Given the description of an element on the screen output the (x, y) to click on. 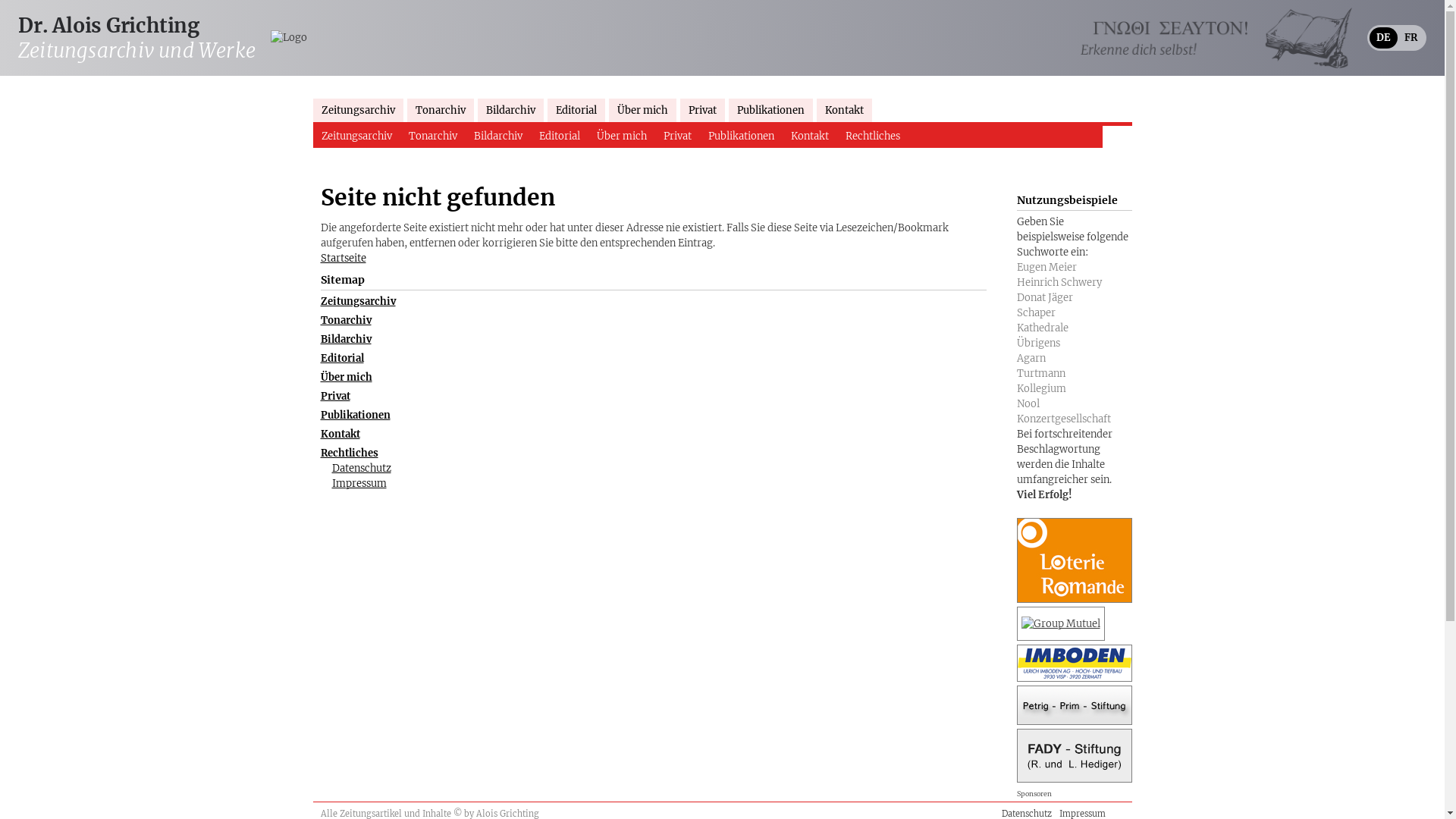
Rechtliches Element type: text (348, 452)
Dr. Alois Grichting
Zeitungsarchiv und Werke Element type: text (136, 37)
Kontakt Element type: text (339, 433)
Zeitungsarchiv Element type: text (355, 136)
Bildarchiv Element type: text (497, 136)
Editorial Element type: text (576, 110)
Bildarchiv Element type: text (510, 110)
Zeitungsarchiv Element type: text (357, 300)
Editorial Element type: text (559, 136)
DE Element type: text (1383, 37)
Tonarchiv Element type: text (439, 110)
Kontakt Element type: text (843, 110)
Publikationen Element type: text (354, 414)
Privat Element type: text (334, 395)
Privat Element type: text (701, 110)
Tonarchiv Element type: text (345, 319)
Publikationen Element type: text (740, 136)
Publikationen Element type: text (770, 110)
Tonarchiv Element type: text (432, 136)
Privat Element type: text (677, 136)
FR Element type: text (1410, 37)
Kontakt Element type: text (809, 136)
Startseite Element type: text (342, 257)
Datenschutz Element type: text (361, 467)
Rechtliches Element type: text (872, 136)
Impressum Element type: text (359, 482)
Bildarchiv Element type: text (345, 338)
Editorial Element type: text (341, 357)
Zeitungsarchiv Element type: text (357, 110)
